Given the description of an element on the screen output the (x, y) to click on. 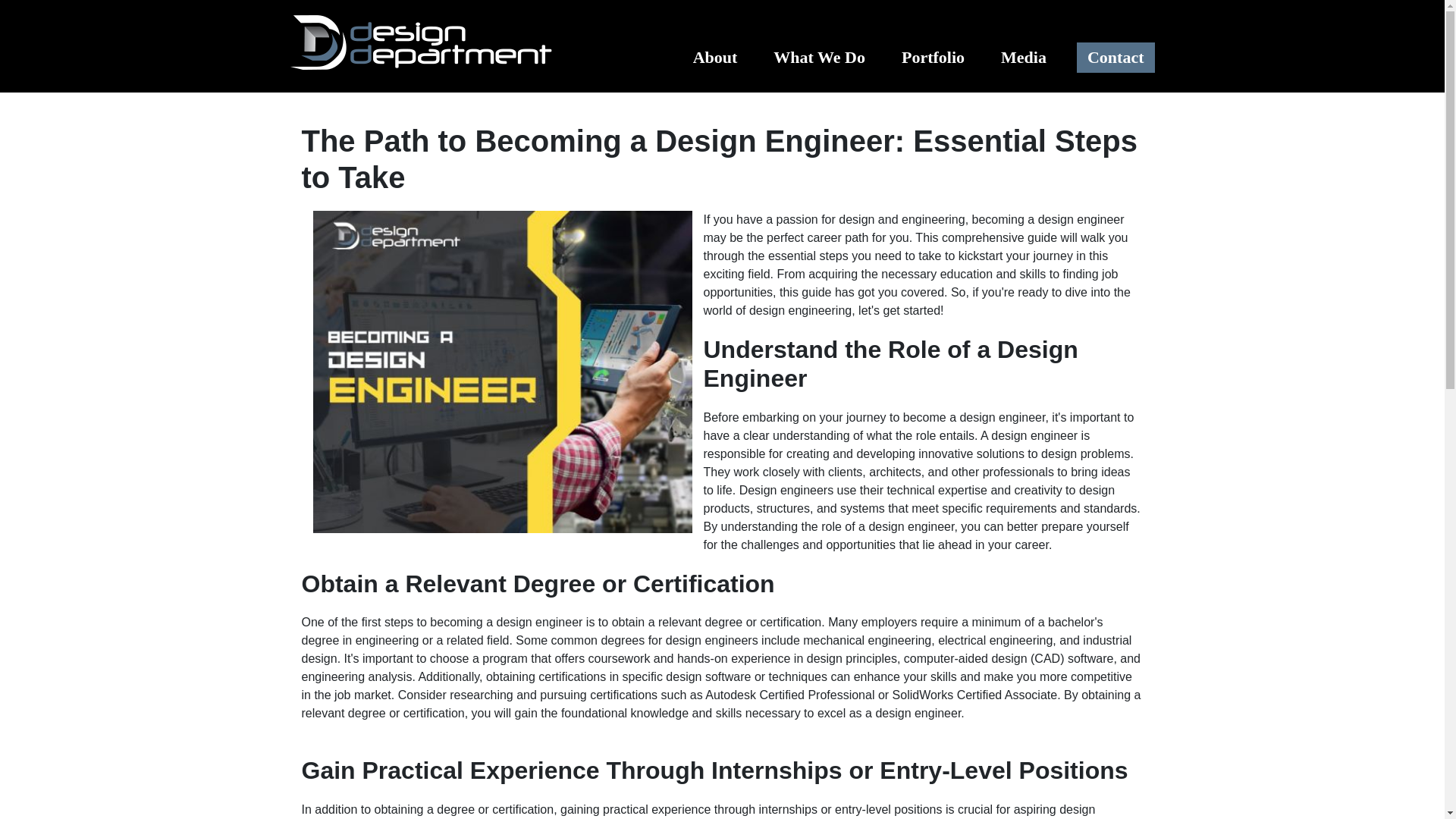
Portfolio (929, 57)
What We Do (815, 57)
Skip to main content (721, 1)
Contact (1115, 57)
